Given the description of an element on the screen output the (x, y) to click on. 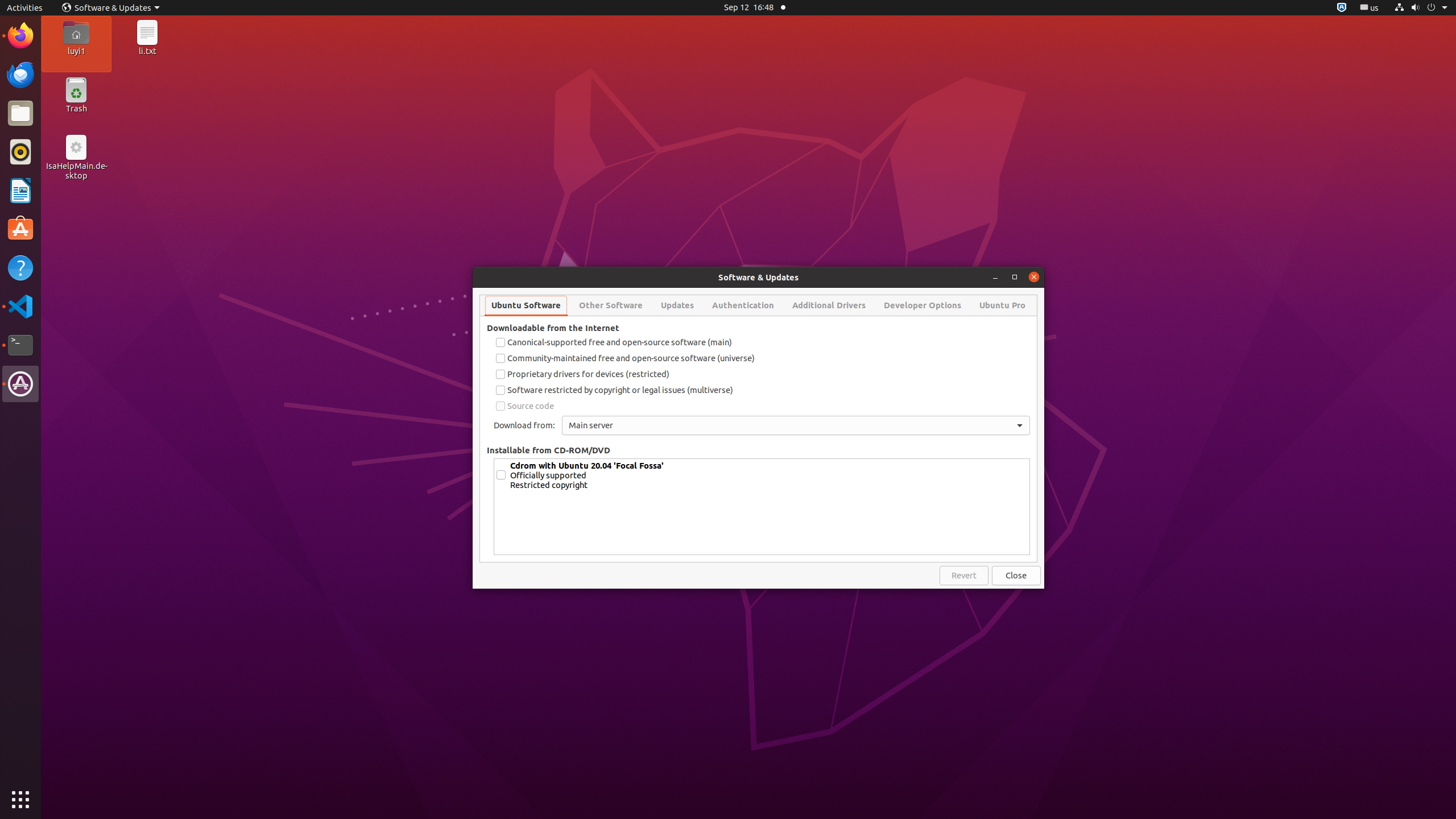
Close Element type: push-button (1015, 575)
Download from: Element type: label (524, 425)
Trash Element type: label (75, 108)
